Given the description of an element on the screen output the (x, y) to click on. 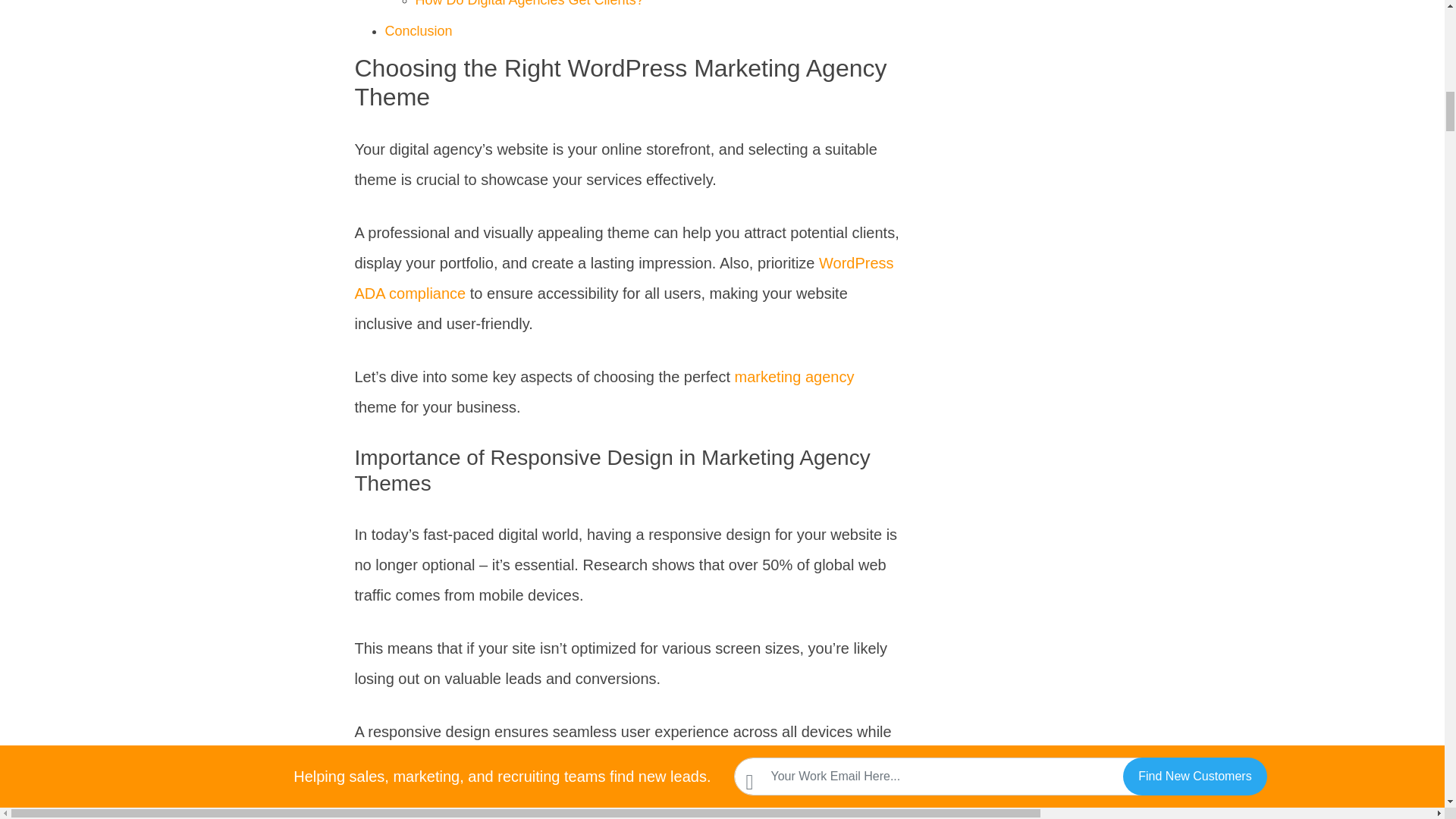
Marketing Agency (794, 376)
